Given the description of an element on the screen output the (x, y) to click on. 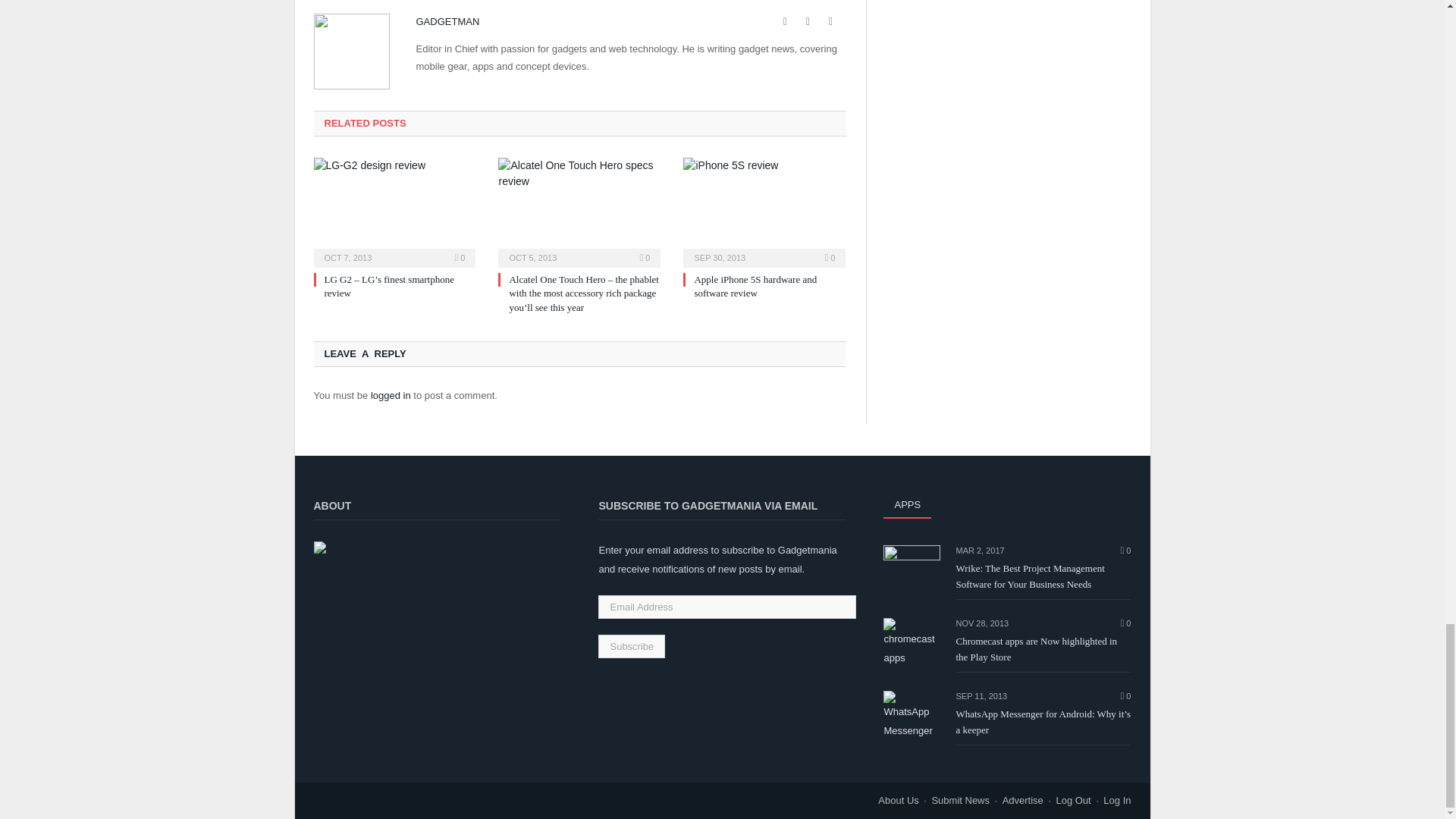
Subscribe (631, 646)
